Given the description of an element on the screen output the (x, y) to click on. 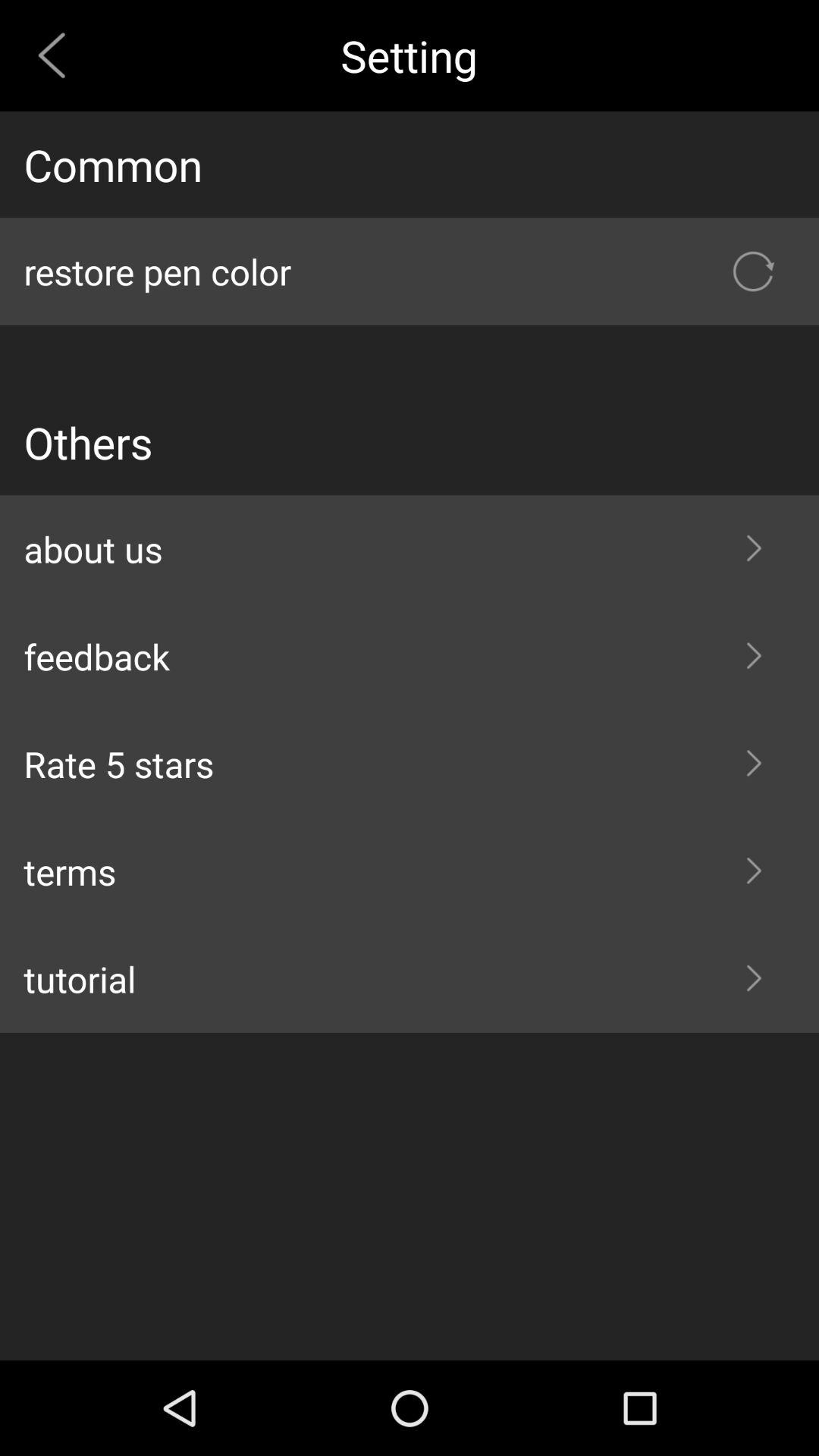
open the item above terms icon (409, 763)
